Given the description of an element on the screen output the (x, y) to click on. 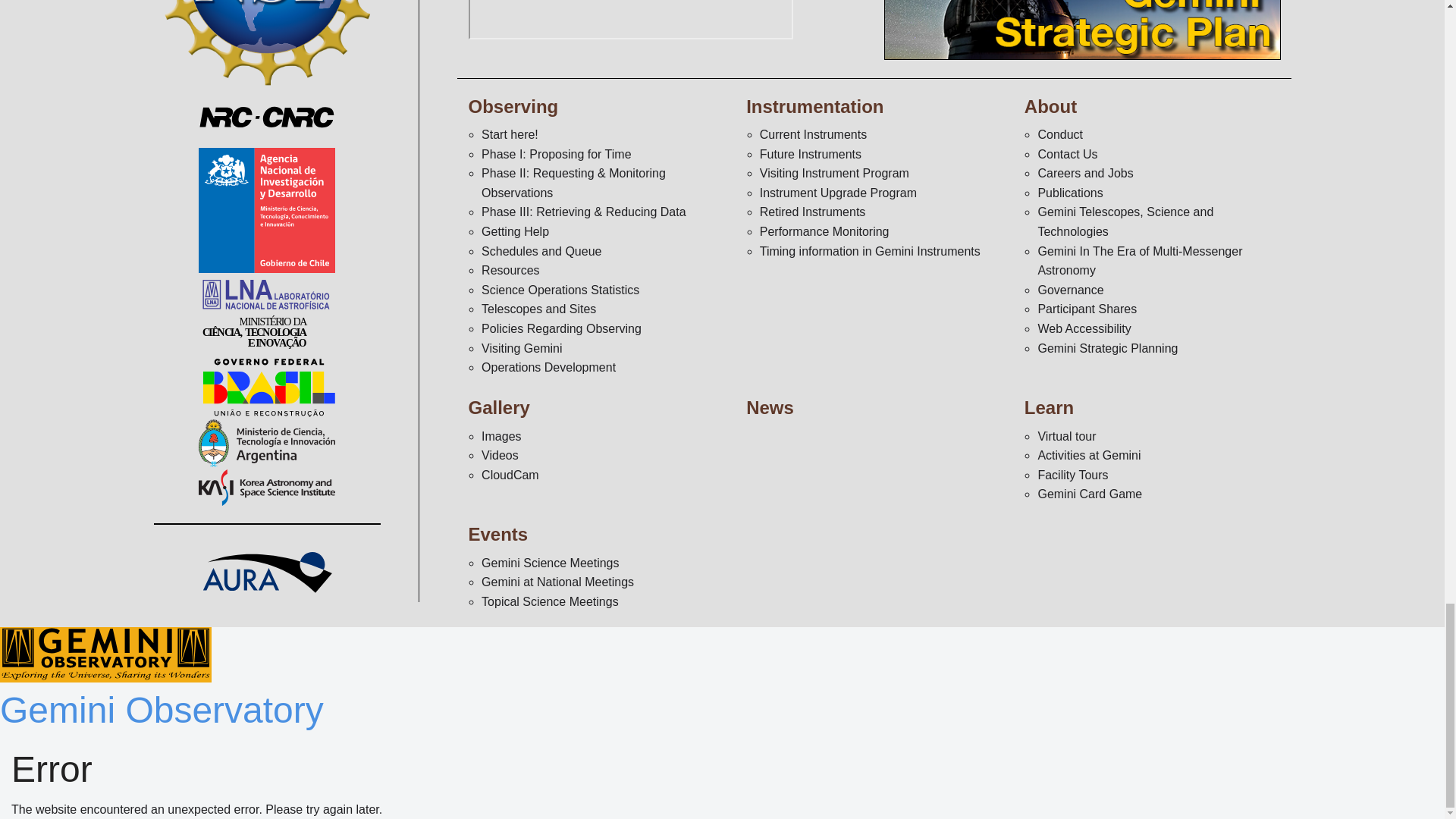
Home (161, 710)
Home (105, 653)
